Given the description of an element on the screen output the (x, y) to click on. 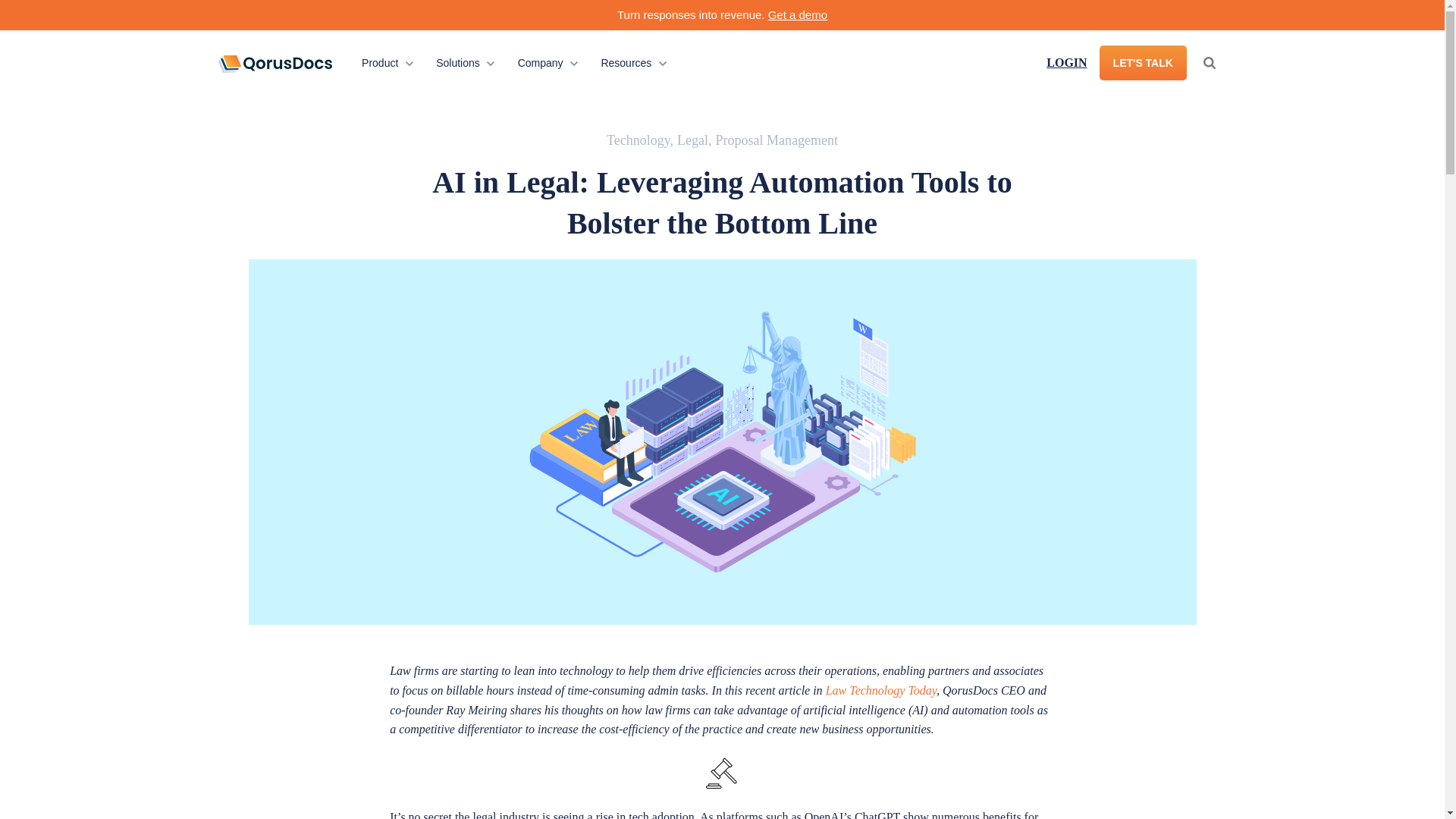
Get a demo (464, 62)
